Given the description of an element on the screen output the (x, y) to click on. 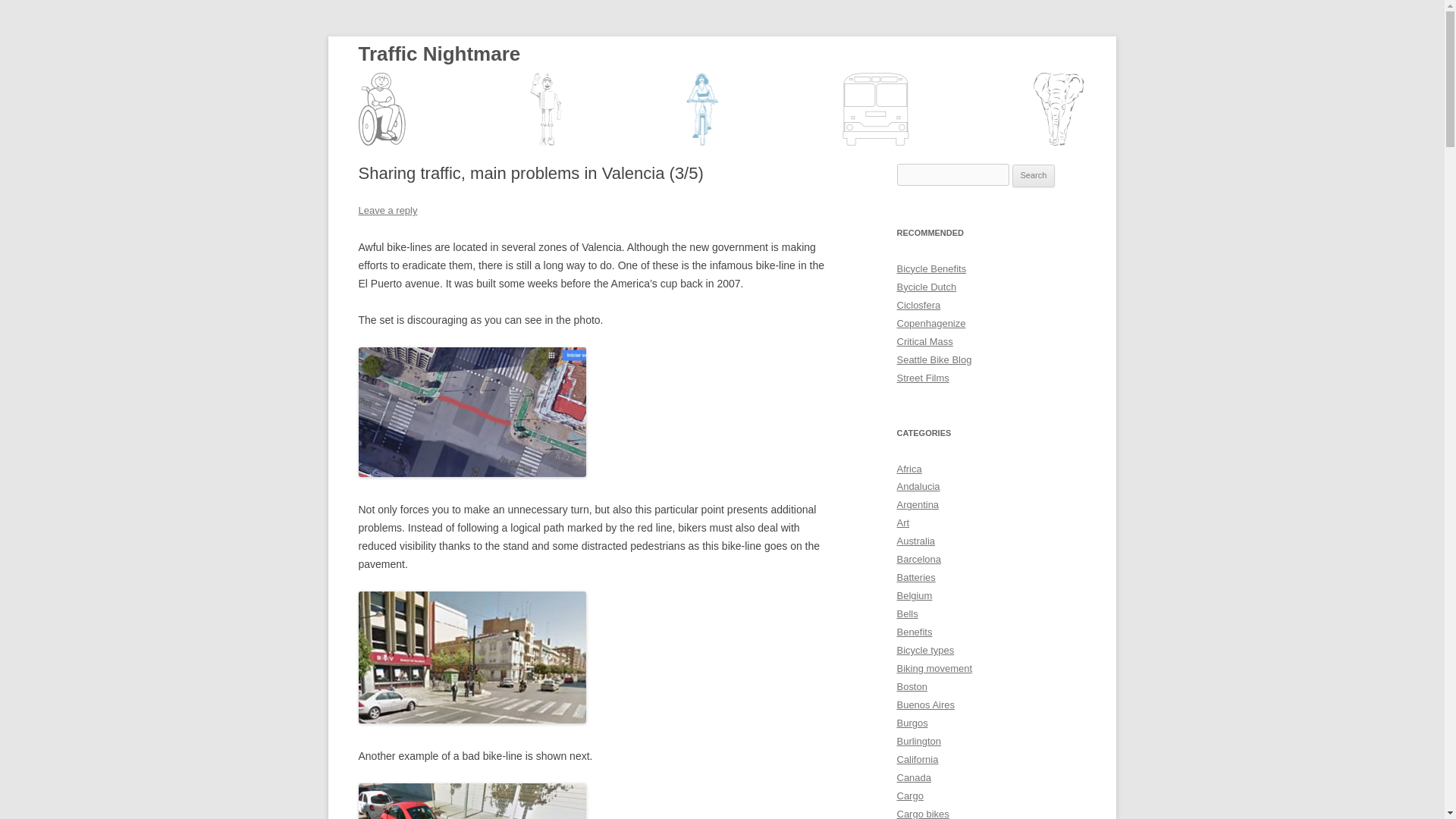
Ciclosfera (918, 305)
Andalucia (917, 486)
Bicycle Benefits (931, 268)
Art (902, 522)
Copenhagenize (930, 323)
Barcelona (918, 559)
Leave a reply (387, 210)
Bycicle Dutch (926, 286)
Batteries (915, 577)
Argentina (917, 504)
